Given the description of an element on the screen output the (x, y) to click on. 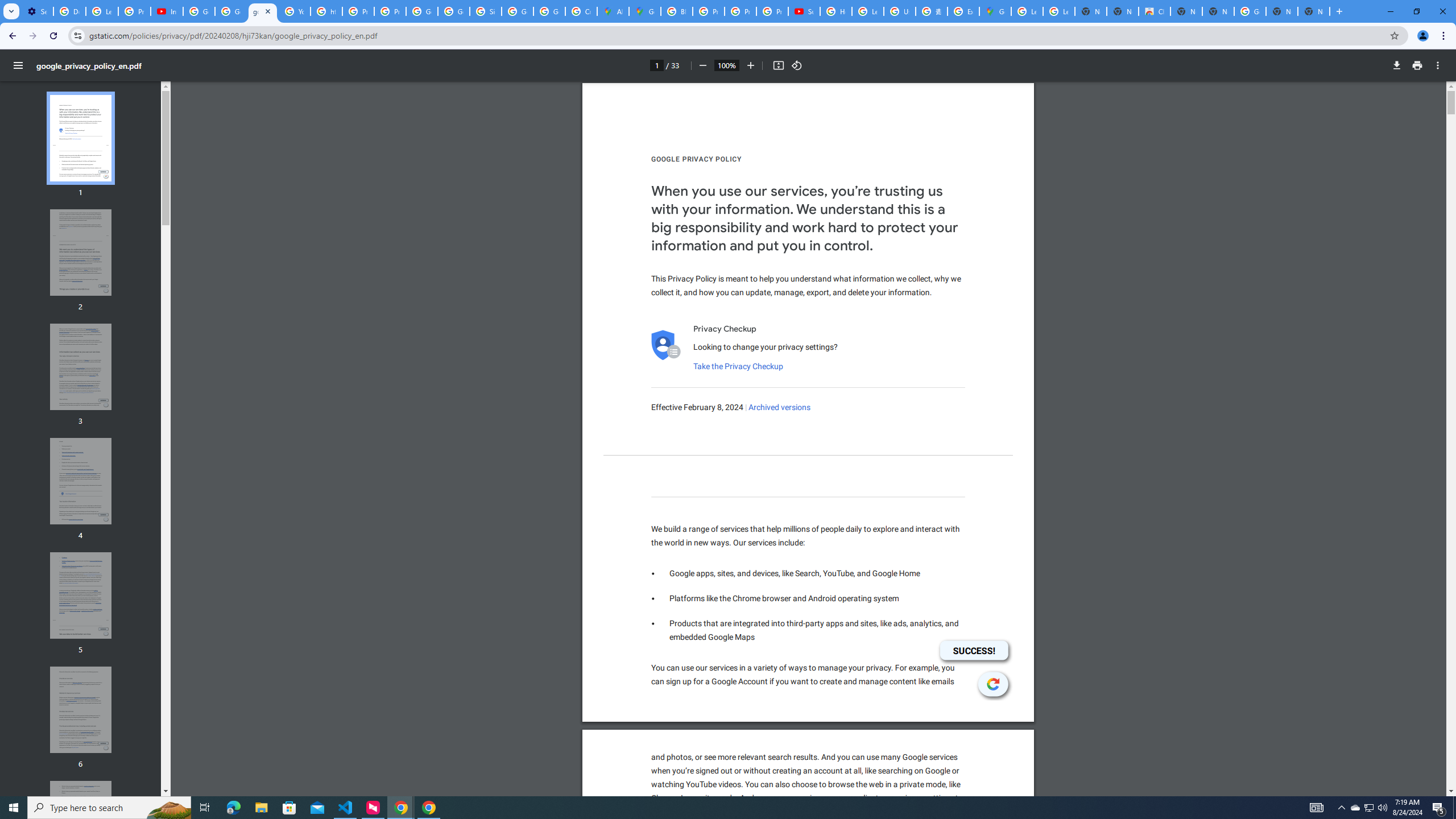
Thumbnail for page 5 (80, 595)
Google Maps (995, 11)
Thumbnail for page 1 (80, 138)
Zoom out (702, 65)
Blogger Policies and Guidelines - Transparency Center (676, 11)
Fit to page (777, 65)
Privacy Help Center - Policies Help (708, 11)
Learn how to find your photos - Google Photos Help (101, 11)
